Given the description of an element on the screen output the (x, y) to click on. 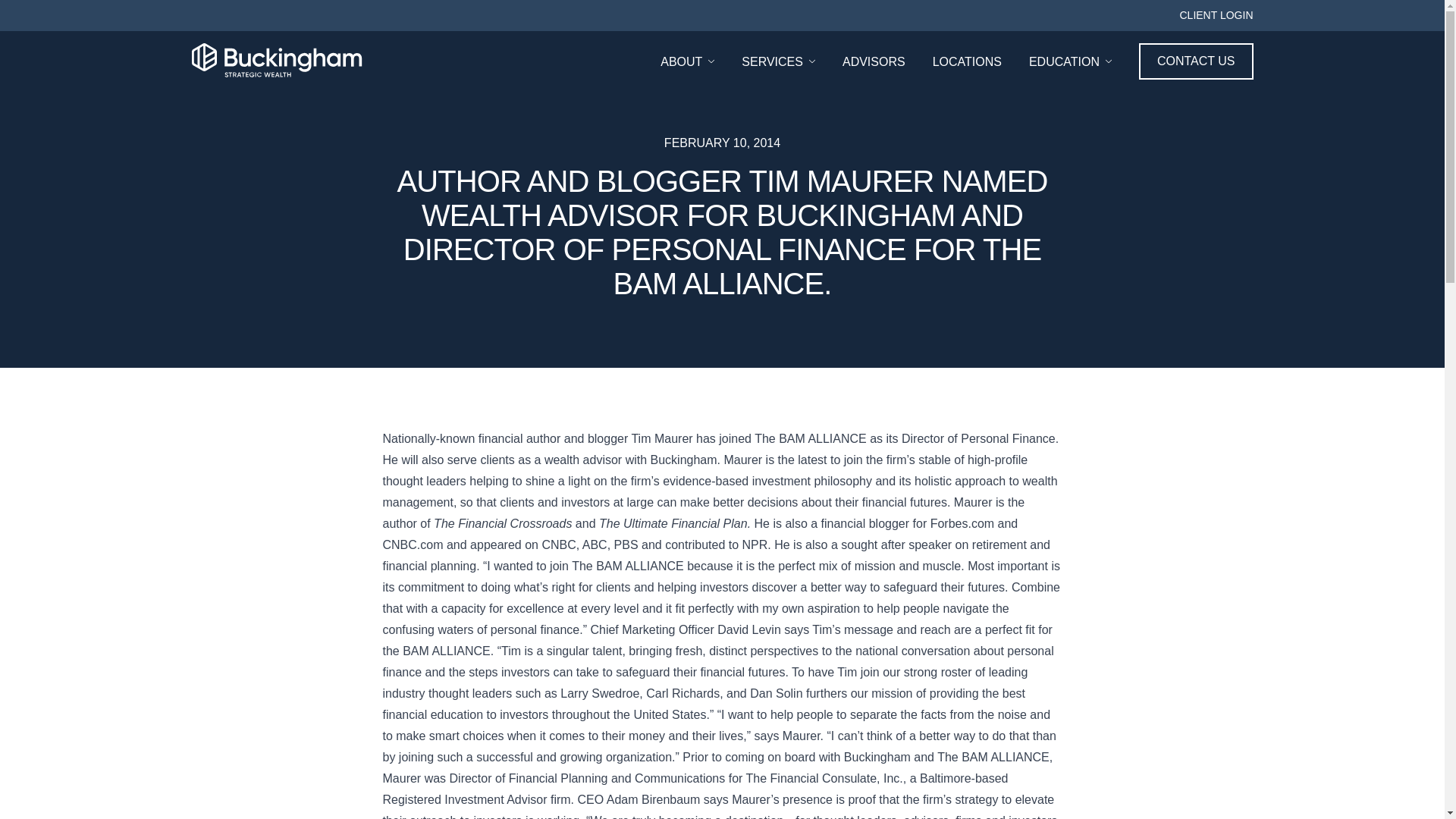
SERVICES (779, 61)
ADVISORS (875, 61)
ABOUT (689, 61)
CLIENT LOGIN (1216, 15)
LOCATIONS (968, 61)
